Given the description of an element on the screen output the (x, y) to click on. 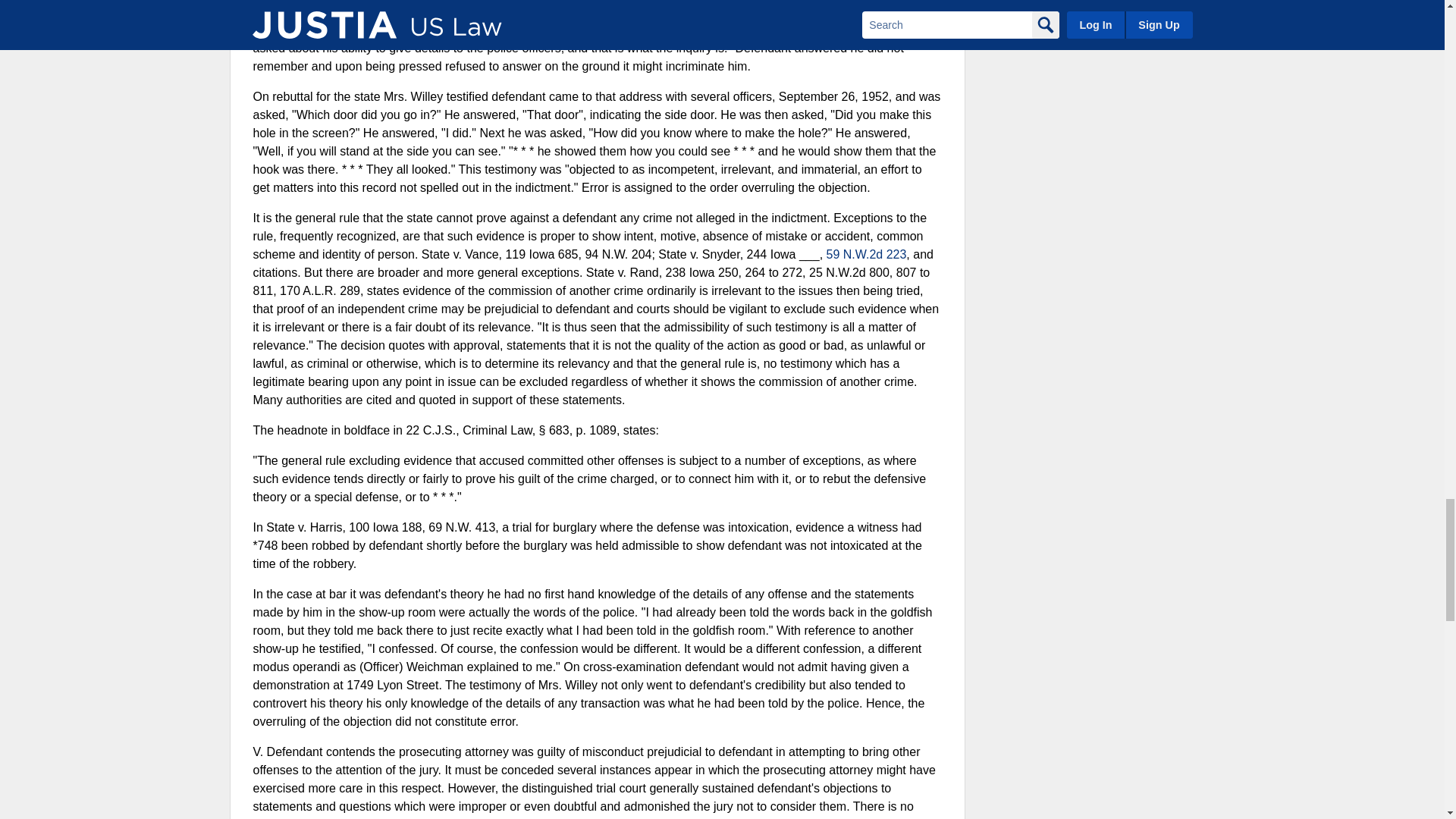
59 N.W.2d 223 (867, 254)
